Given the description of an element on the screen output the (x, y) to click on. 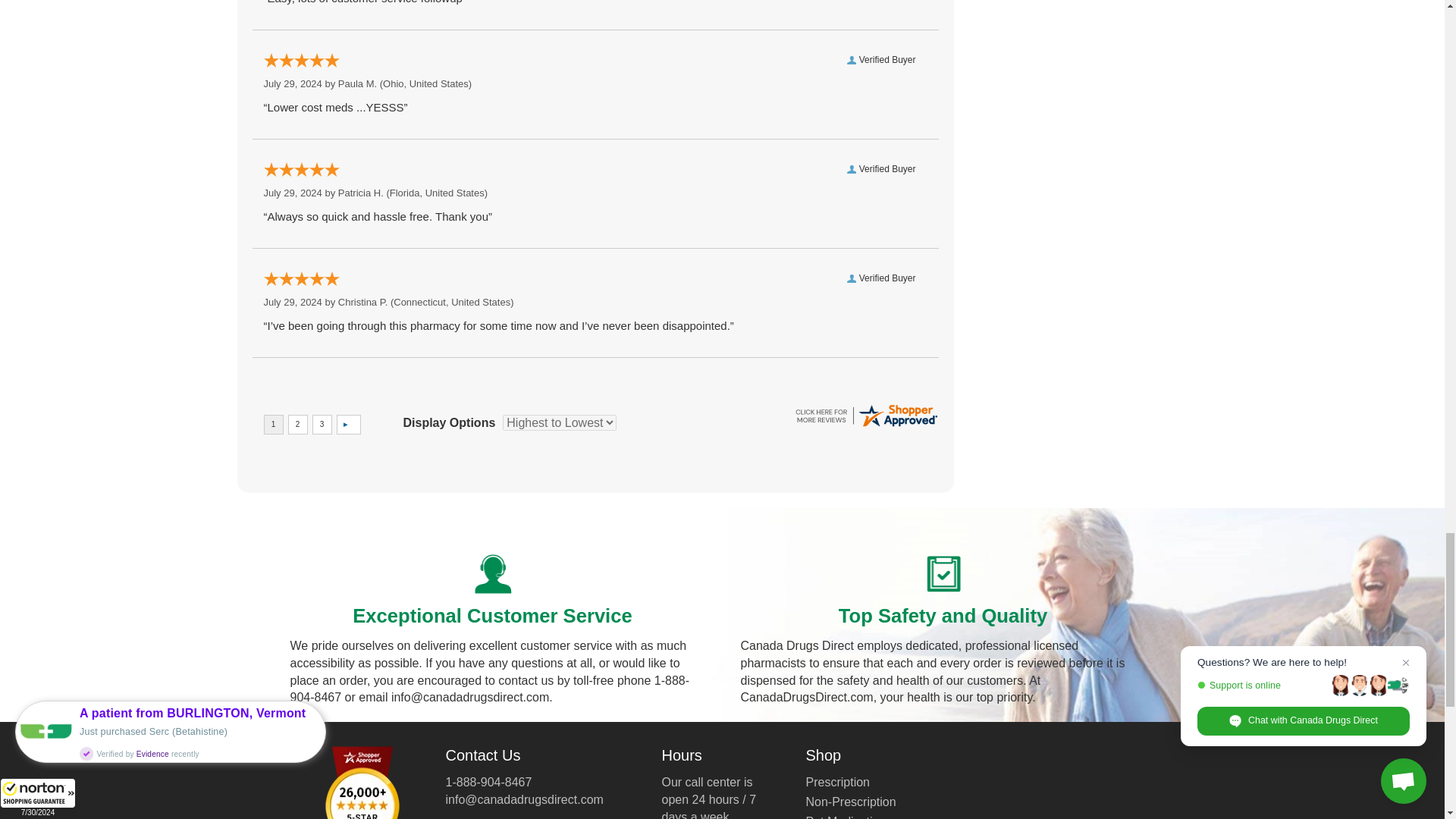
2 (297, 424)
3 (322, 424)
Sort Reviews (558, 422)
1 (273, 424)
